Given the description of an element on the screen output the (x, y) to click on. 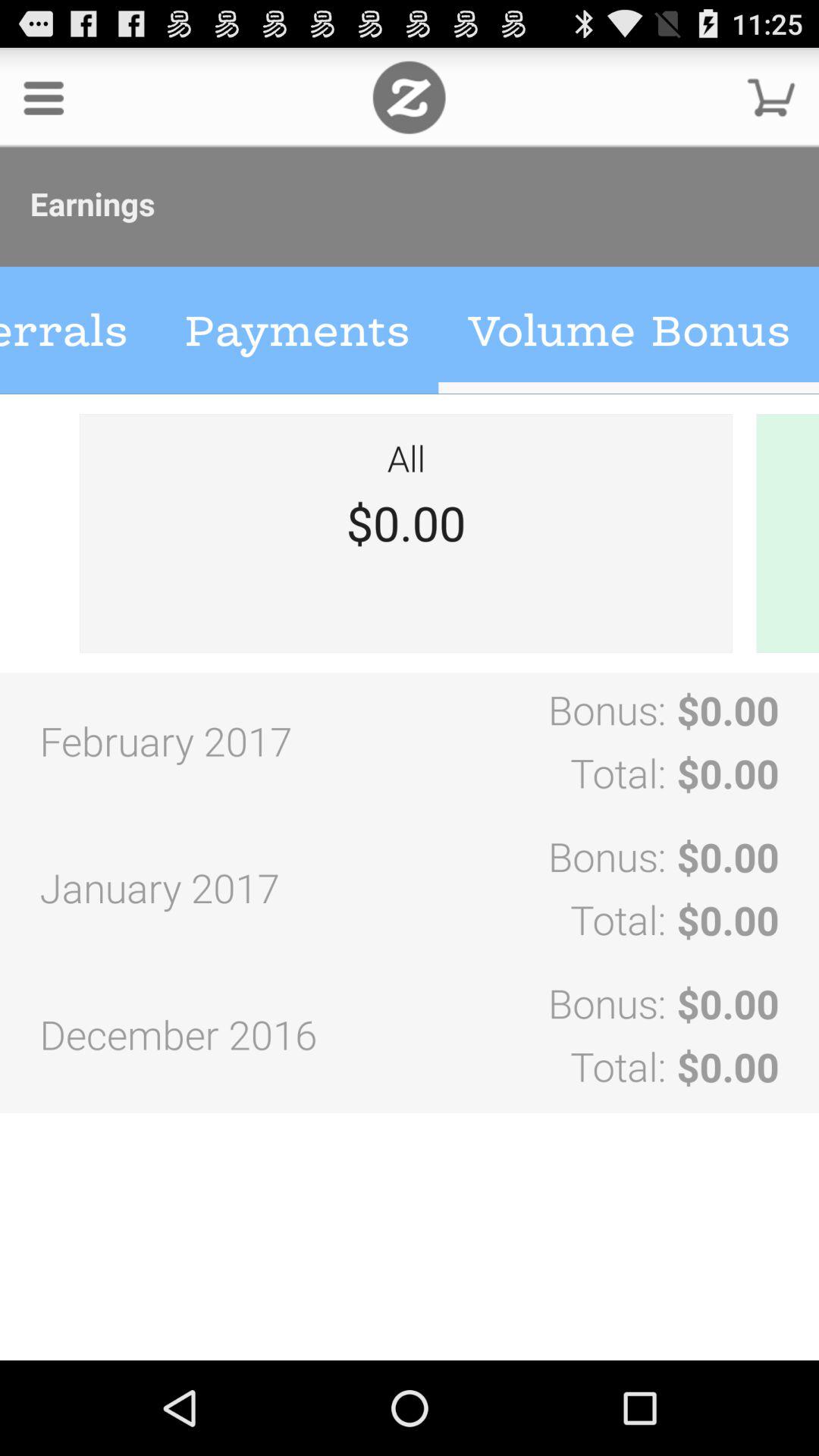
cart option (771, 97)
